Given the description of an element on the screen output the (x, y) to click on. 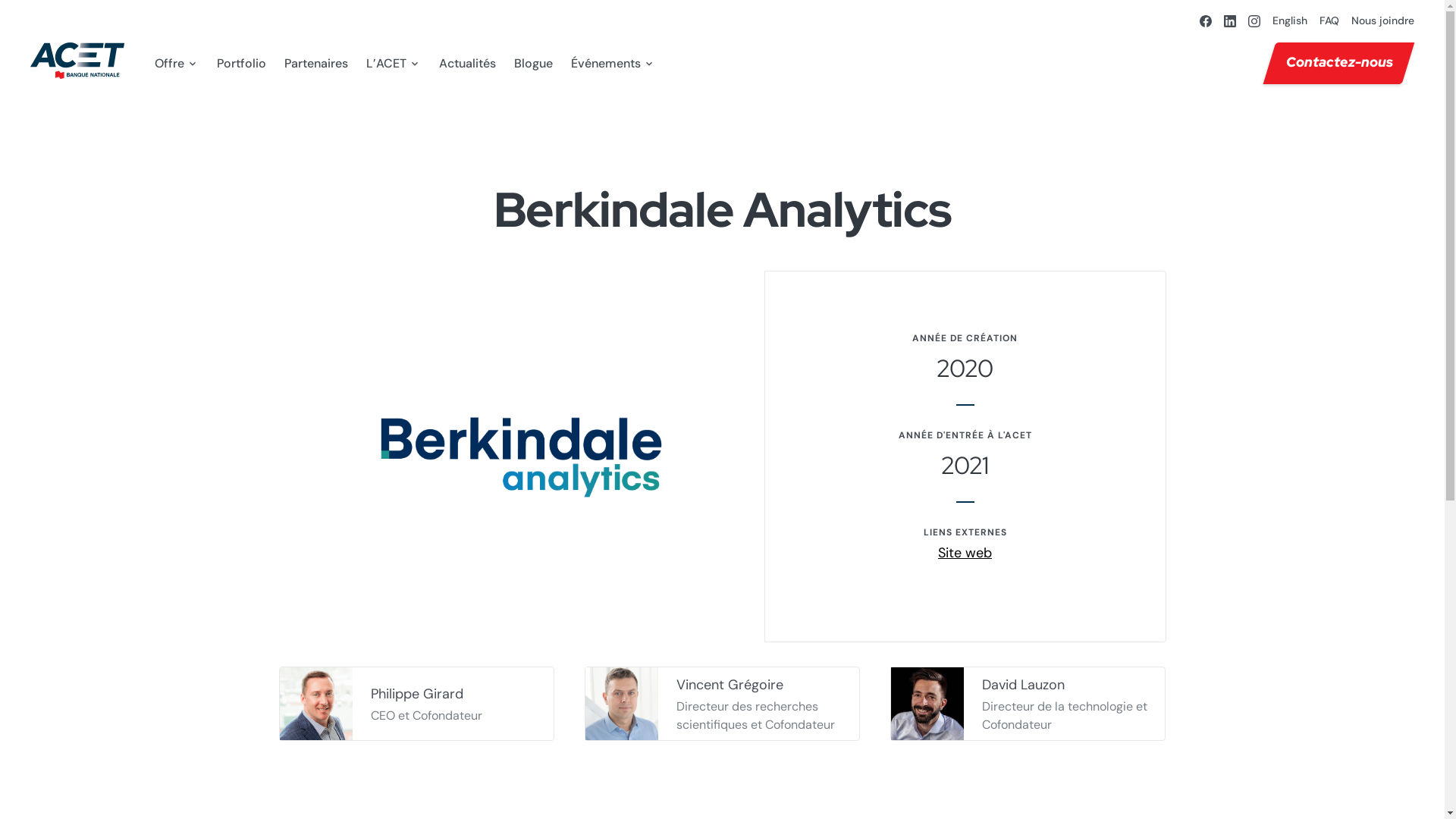
Site web Element type: text (964, 553)
English Element type: text (1289, 20)
Contactez-nous Element type: text (1332, 63)
Portfolio Element type: text (241, 62)
Offre Element type: text (176, 62)
FAQ Element type: text (1329, 20)
Partenaires Element type: text (316, 62)
Nous joindre Element type: text (1382, 20)
Blogue Element type: text (533, 62)
